Given the description of an element on the screen output the (x, y) to click on. 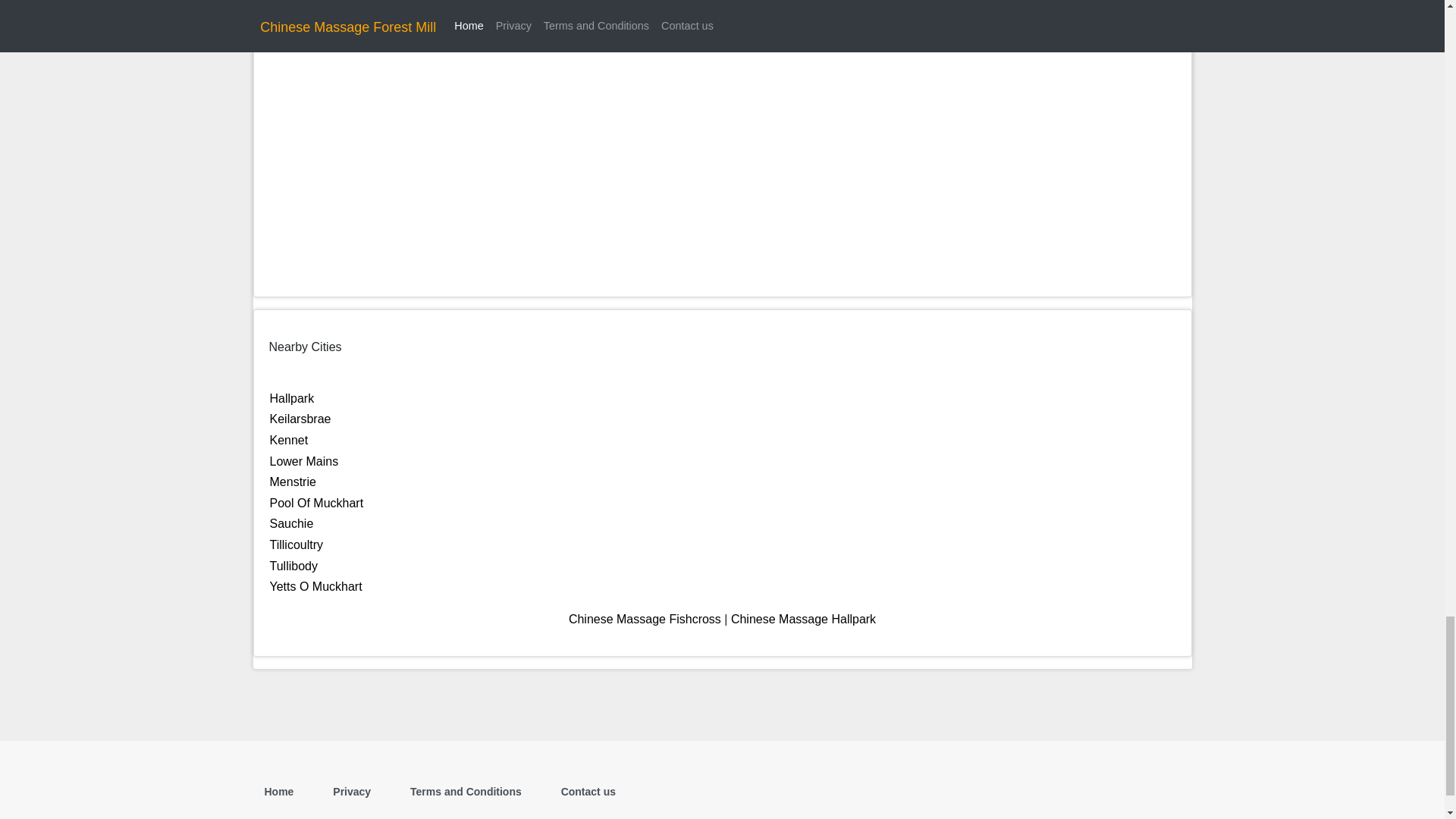
Lower Mains (304, 461)
Tullibody (293, 565)
Pool Of Muckhart (316, 502)
Keilarsbrae (300, 418)
Chinese Massage Fishcross (644, 618)
Hallpark (291, 398)
Tillicoultry (296, 544)
Kennet (288, 440)
Chinese Massage Hallpark (803, 618)
Yetts O Muckhart (315, 585)
Menstrie (292, 481)
Sauchie (291, 522)
